Given the description of an element on the screen output the (x, y) to click on. 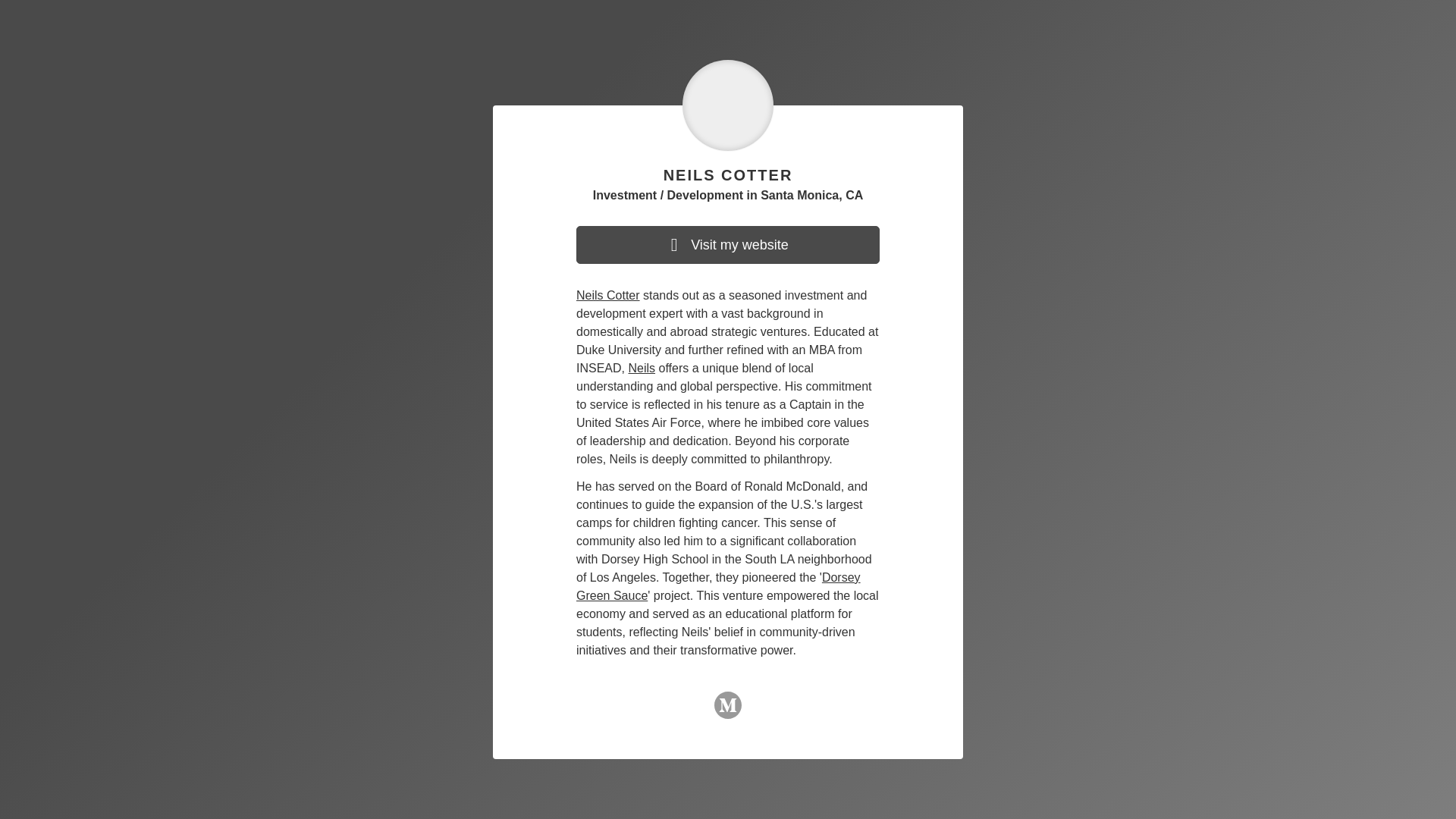
Dorsey Green Sauce (718, 585)
Visit me on Medium (727, 710)
Visit my website (727, 244)
Neils Cotter (608, 295)
Neils (641, 367)
